Given the description of an element on the screen output the (x, y) to click on. 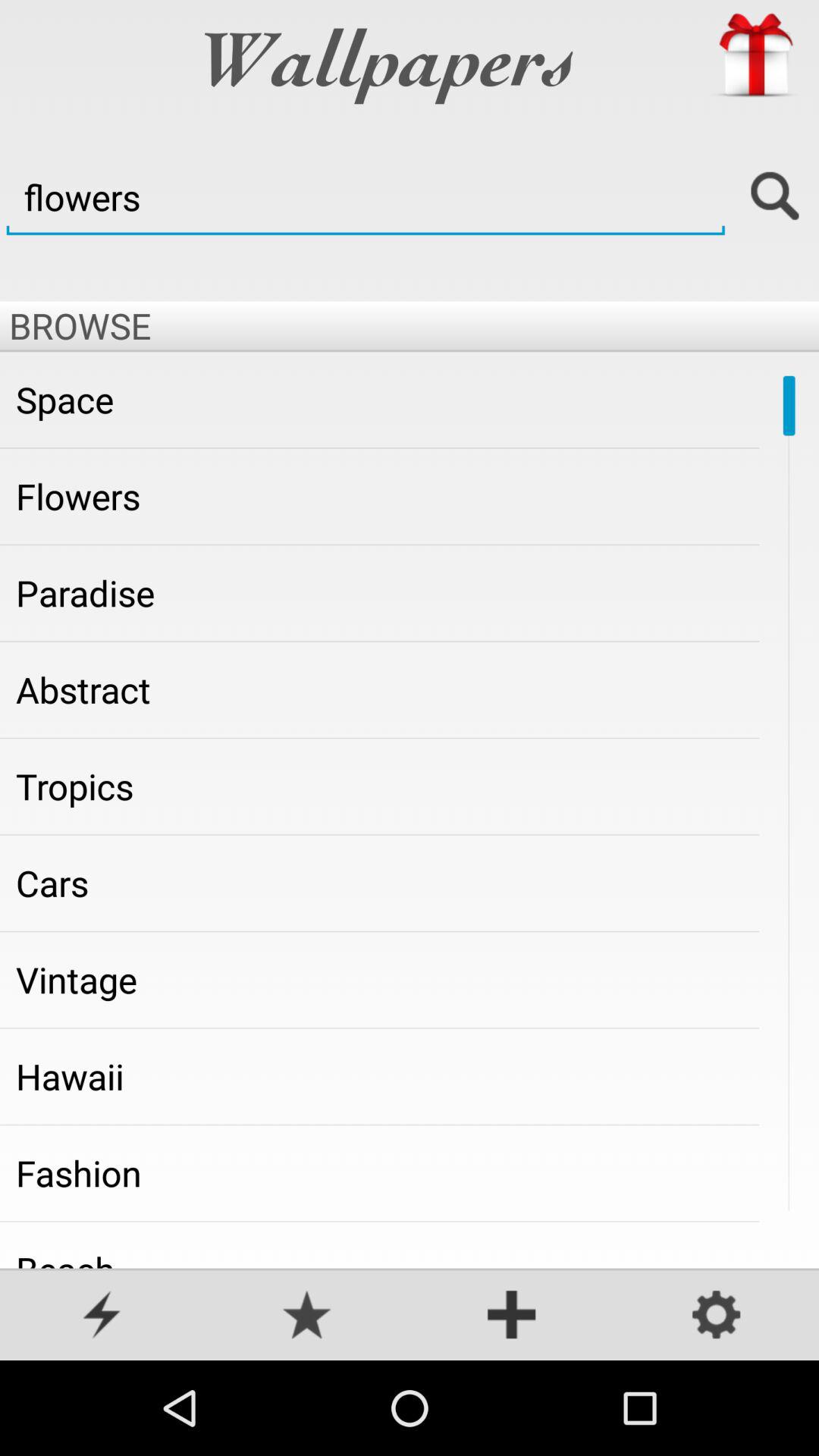
settings page (716, 1316)
